Given the description of an element on the screen output the (x, y) to click on. 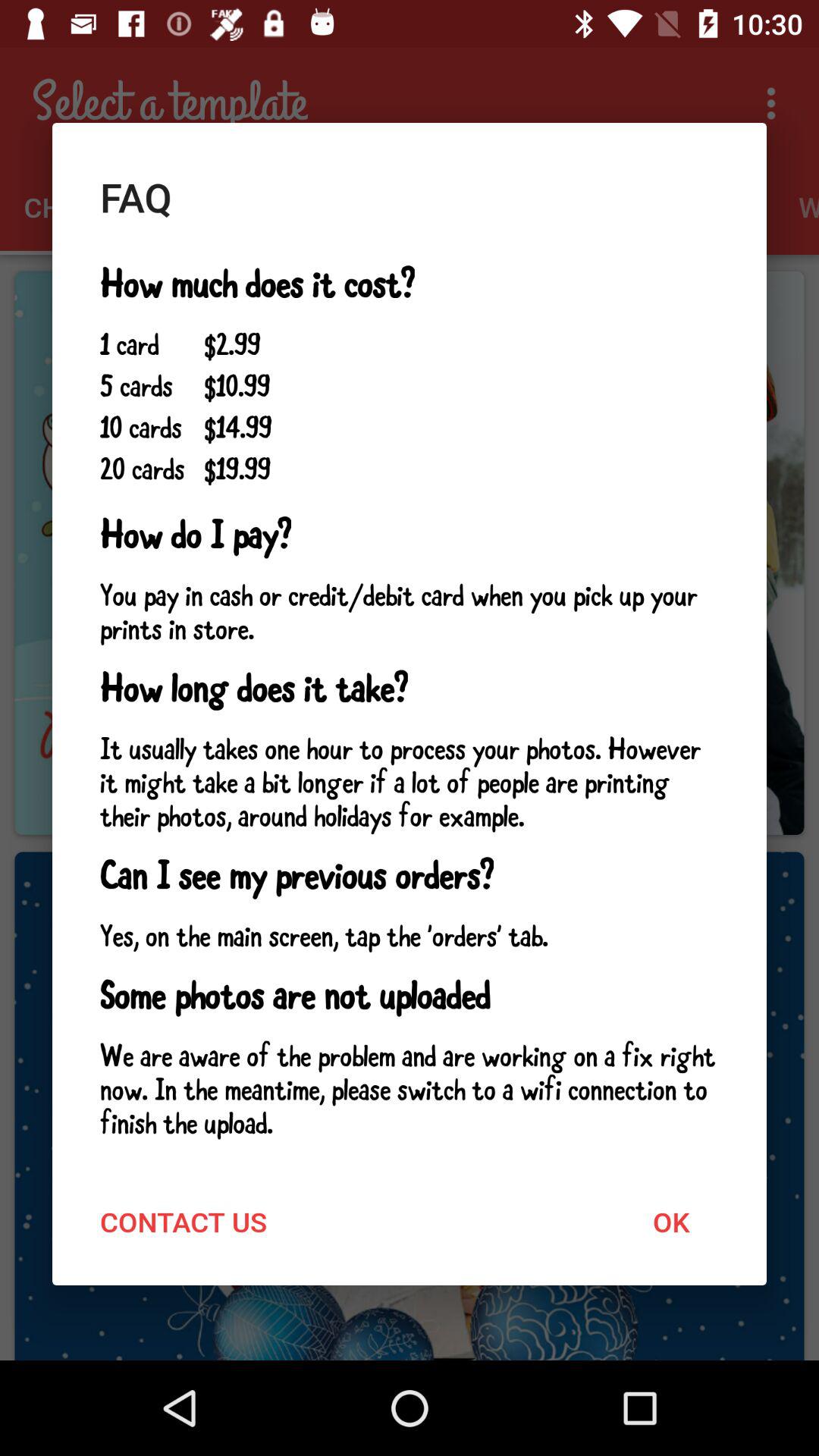
choose icon below the we are aware icon (670, 1221)
